Given the description of an element on the screen output the (x, y) to click on. 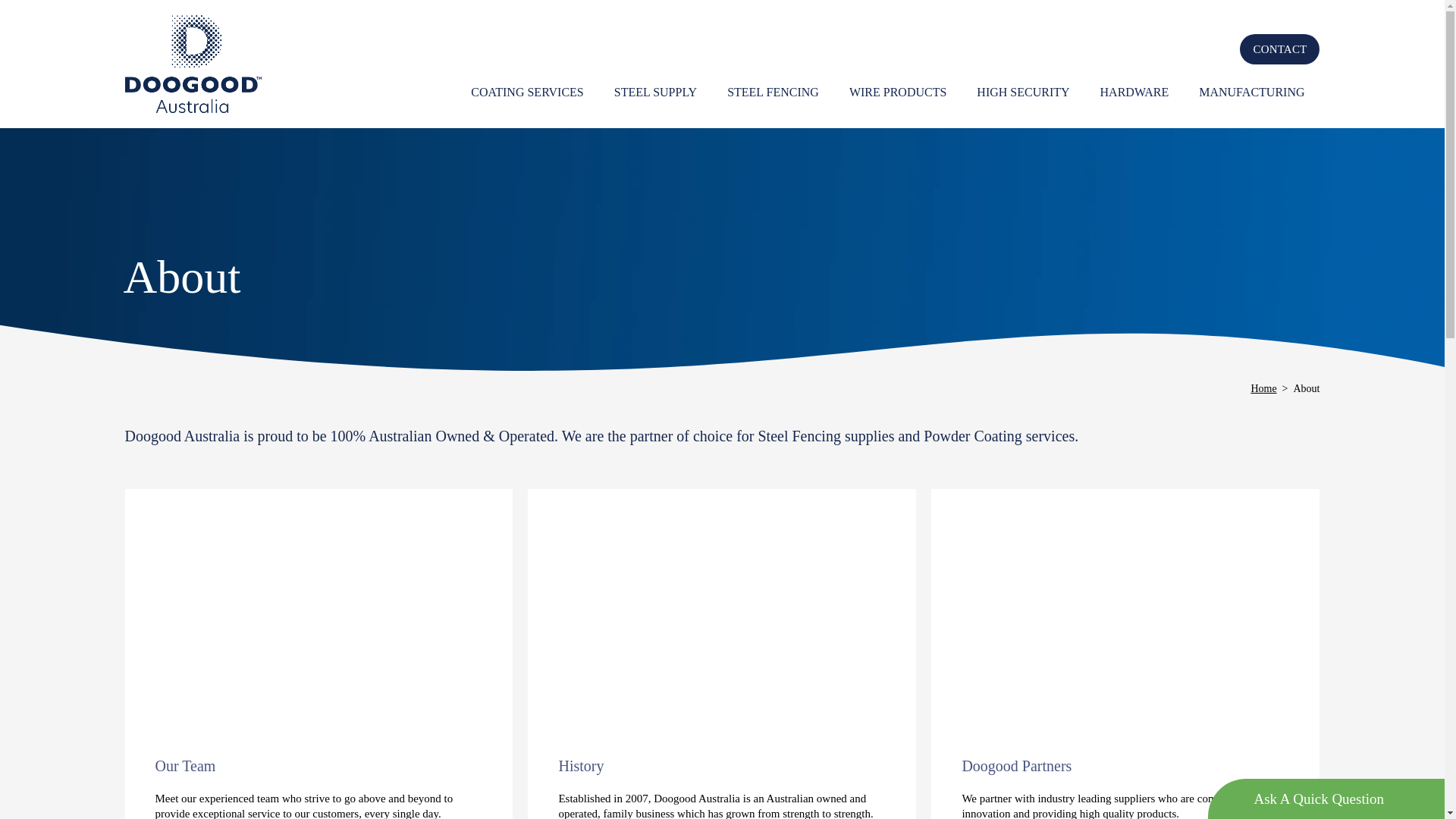
HIGH SECURITY Element type: text (1022, 91)
STEEL FENCING Element type: text (773, 91)
Doogood Partners Element type: text (1016, 765)
Our Team Element type: text (184, 765)
Home Element type: text (1263, 388)
STEEL SUPPLY Element type: text (655, 91)
History Element type: text (580, 765)
HARDWARE Element type: text (1134, 91)
CONTACT Element type: text (1279, 49)
WIRE PRODUCTS Element type: text (897, 91)
COATING SERVICES Element type: text (526, 91)
MANUFACTURING Element type: text (1251, 91)
